Given the description of an element on the screen output the (x, y) to click on. 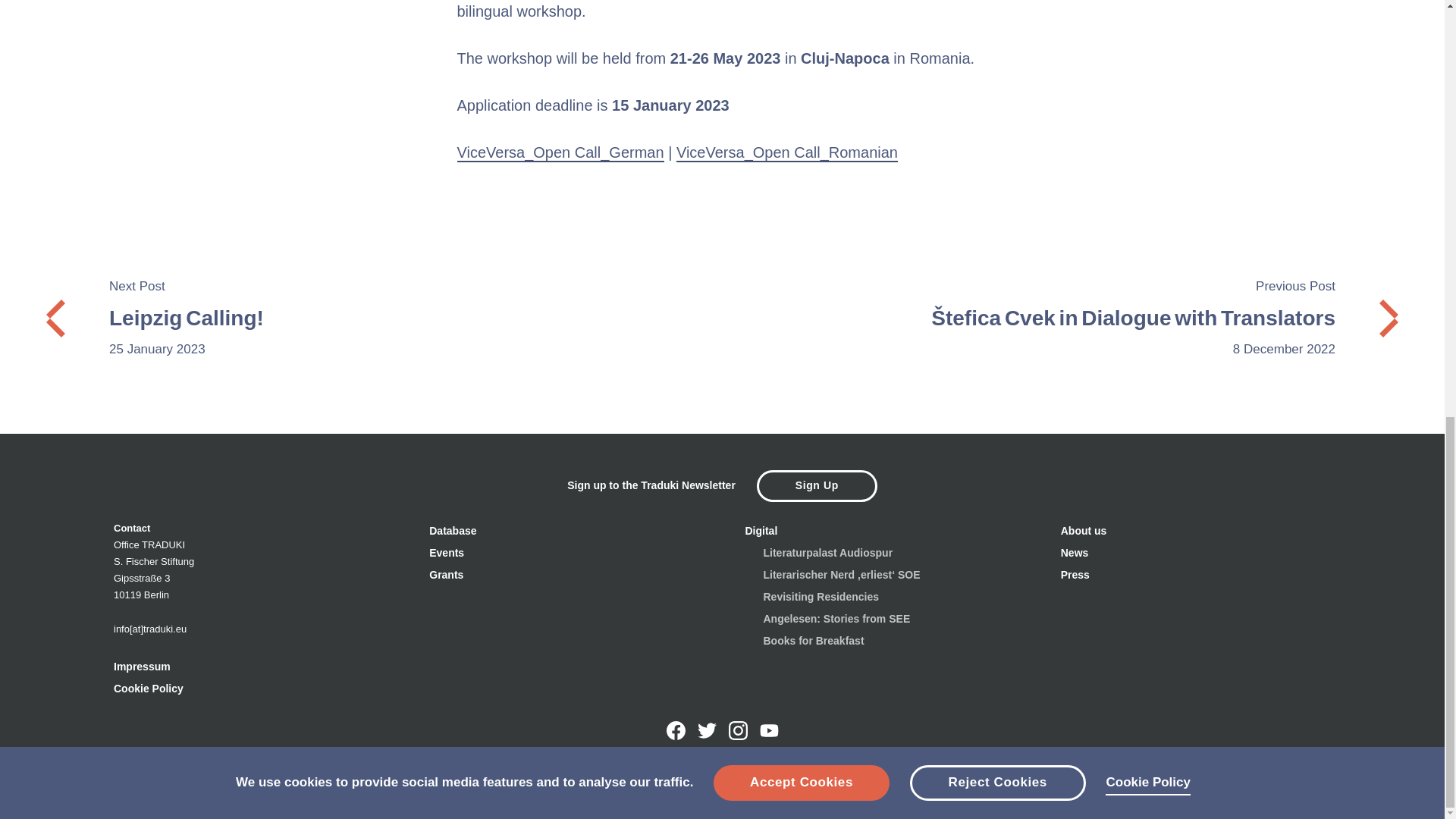
Angelesen: Stories from SEE (836, 618)
Cookie Policy (148, 688)
Grants (446, 574)
Digital (760, 530)
News (1075, 552)
Revisiting Residencies (820, 596)
Literaturpalast Audiospur (827, 552)
Impressum (141, 666)
Events (446, 552)
Database (360, 318)
About us (452, 530)
Books for Breakfast (1083, 530)
Sign Up (812, 639)
